Given the description of an element on the screen output the (x, y) to click on. 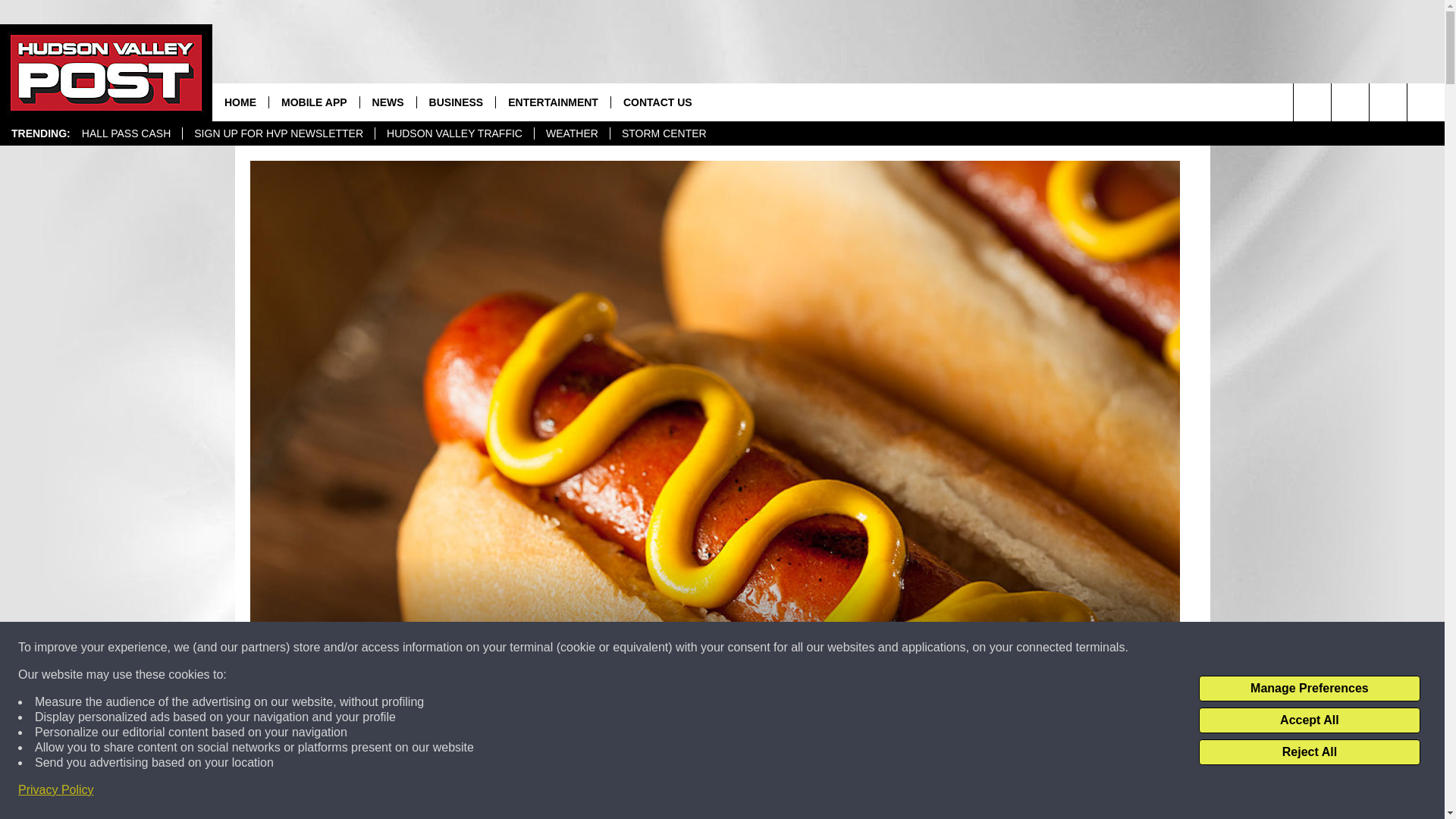
CONTACT US (657, 102)
Share on Twitter (912, 791)
WEATHER (572, 133)
NEWS (387, 102)
STORM CENTER (663, 133)
BUSINESS (456, 102)
Accept All (1309, 720)
HUDSON VALLEY TRAFFIC (454, 133)
Reject All (1309, 751)
Privacy Policy (55, 789)
HALL PASS CASH (126, 133)
MOBILE APP (313, 102)
Share on Facebook (517, 791)
ENTERTAINMENT (552, 102)
Manage Preferences (1309, 688)
